Given the description of an element on the screen output the (x, y) to click on. 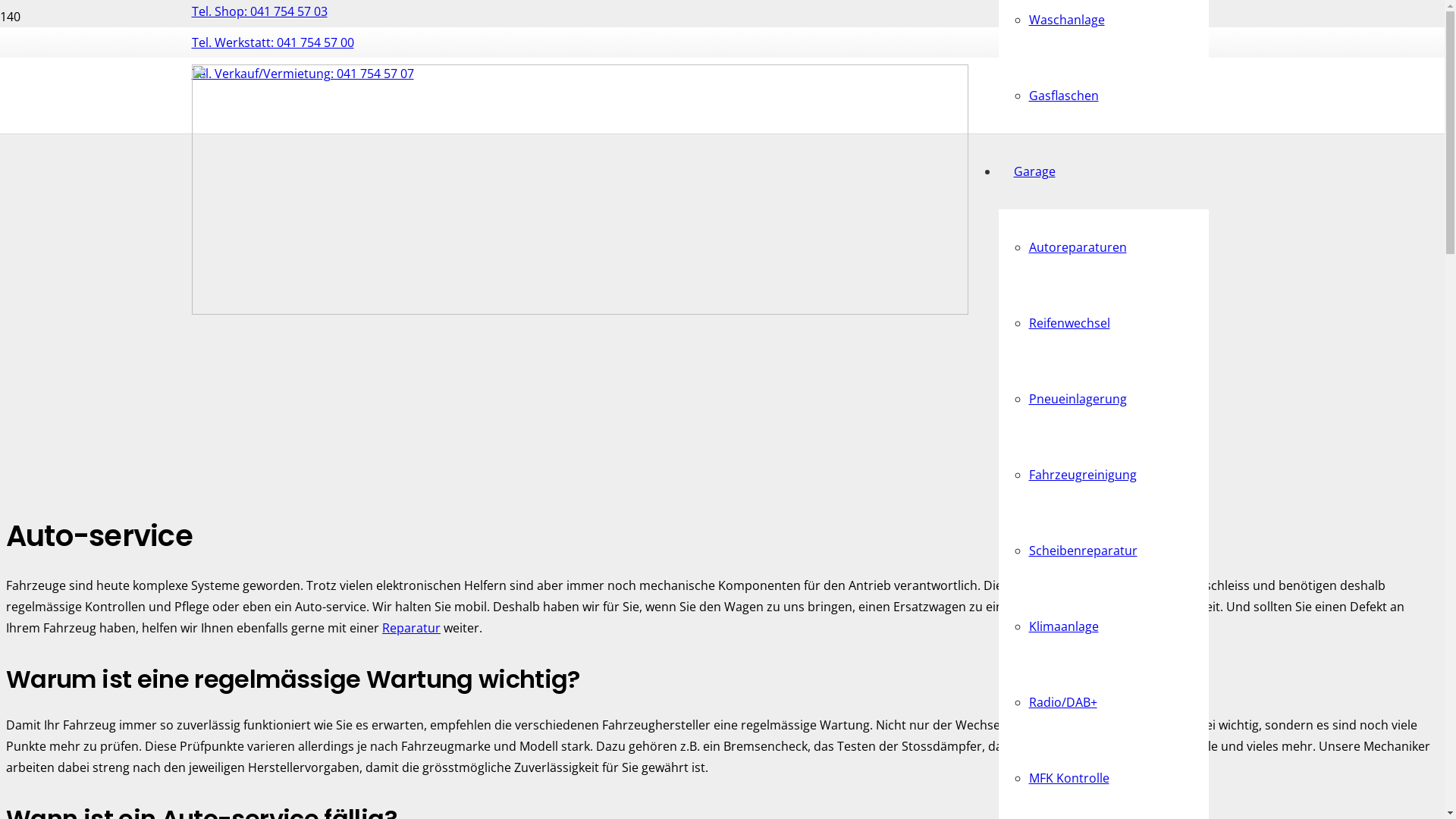
Scheibenreparatur Element type: text (1082, 550)
Reparatur Element type: text (411, 627)
Klimaanlage Element type: text (1063, 626)
Reifenwechsel Element type: text (1068, 322)
Pneueinlagerung Element type: text (1077, 398)
Tel. Verkauf/Vermietung: 041 754 57 07 Element type: text (302, 73)
Gasflaschen Element type: text (1063, 95)
Fahrzeugreinigung Element type: text (1081, 474)
Garage Element type: text (1033, 171)
Radio/DAB+ Element type: text (1062, 701)
Tel. Shop: 041 754 57 03 Element type: text (258, 11)
Autoreparaturen Element type: text (1077, 246)
Waschanlage Element type: text (1066, 19)
Tel. Werkstatt: 041 754 57 00 Element type: text (272, 41)
MFK Kontrolle Element type: text (1068, 777)
